Given the description of an element on the screen output the (x, y) to click on. 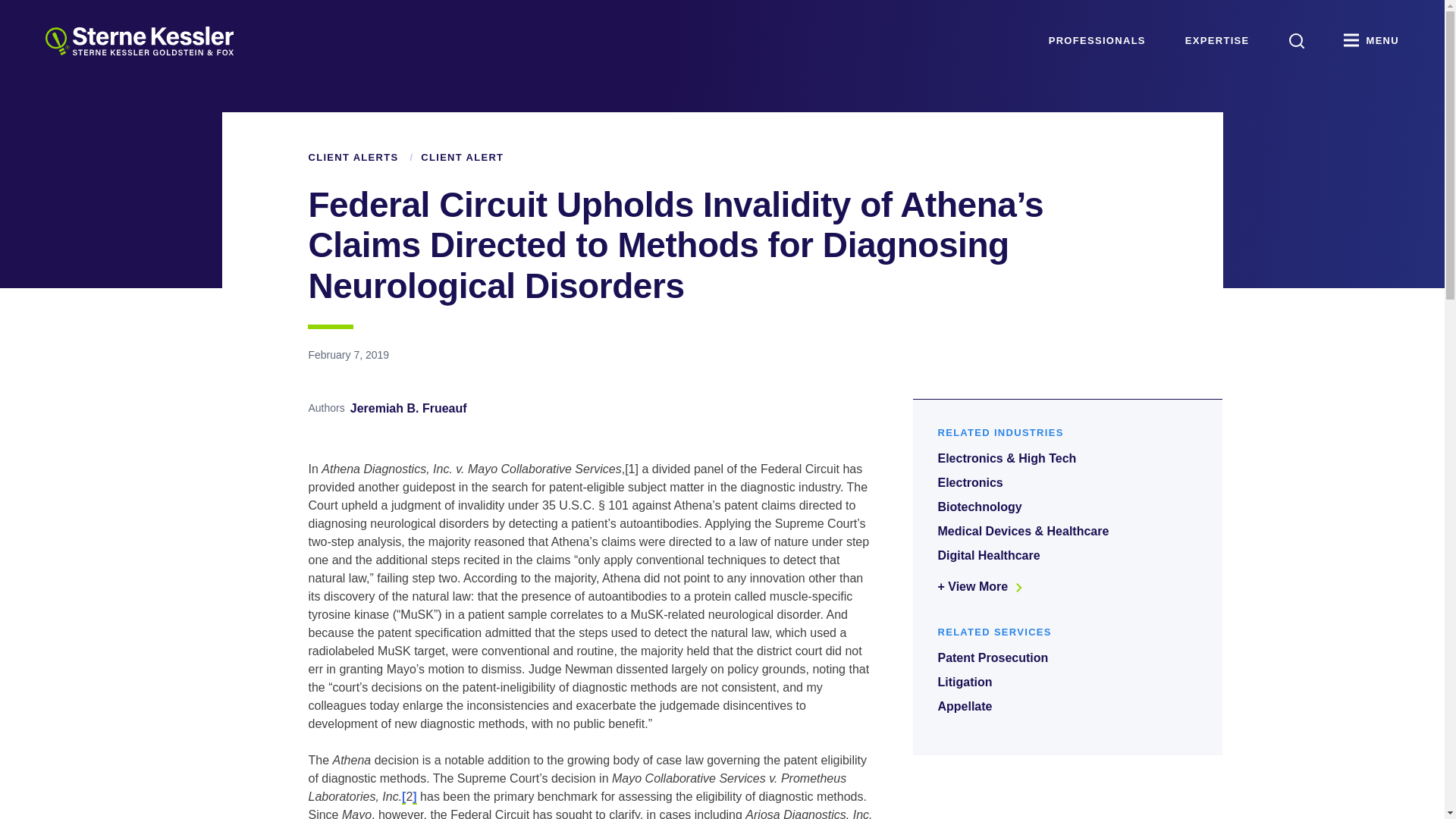
MENU (1371, 40)
Sterne Kessler (138, 40)
PROFESSIONALS (1096, 40)
